Given the description of an element on the screen output the (x, y) to click on. 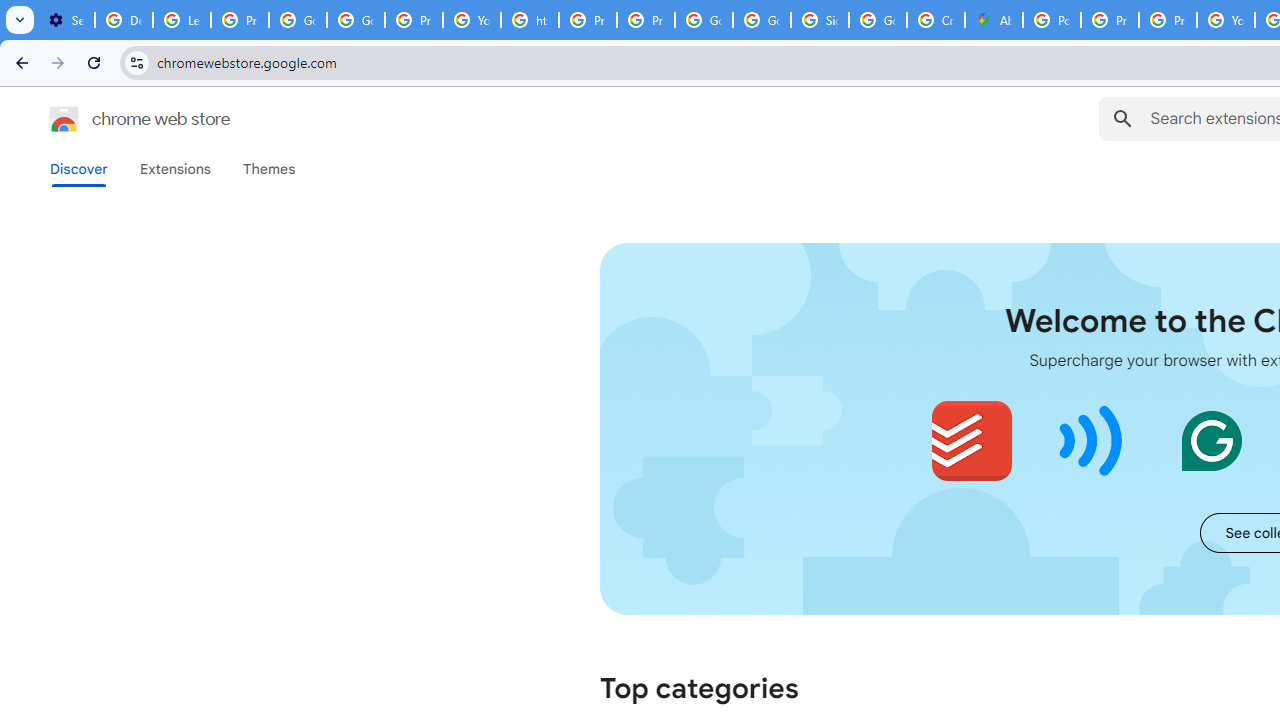
Extensions (174, 169)
Privacy Help Center - Policies Help (1110, 20)
Privacy Help Center - Policies Help (1167, 20)
